Given the description of an element on the screen output the (x, y) to click on. 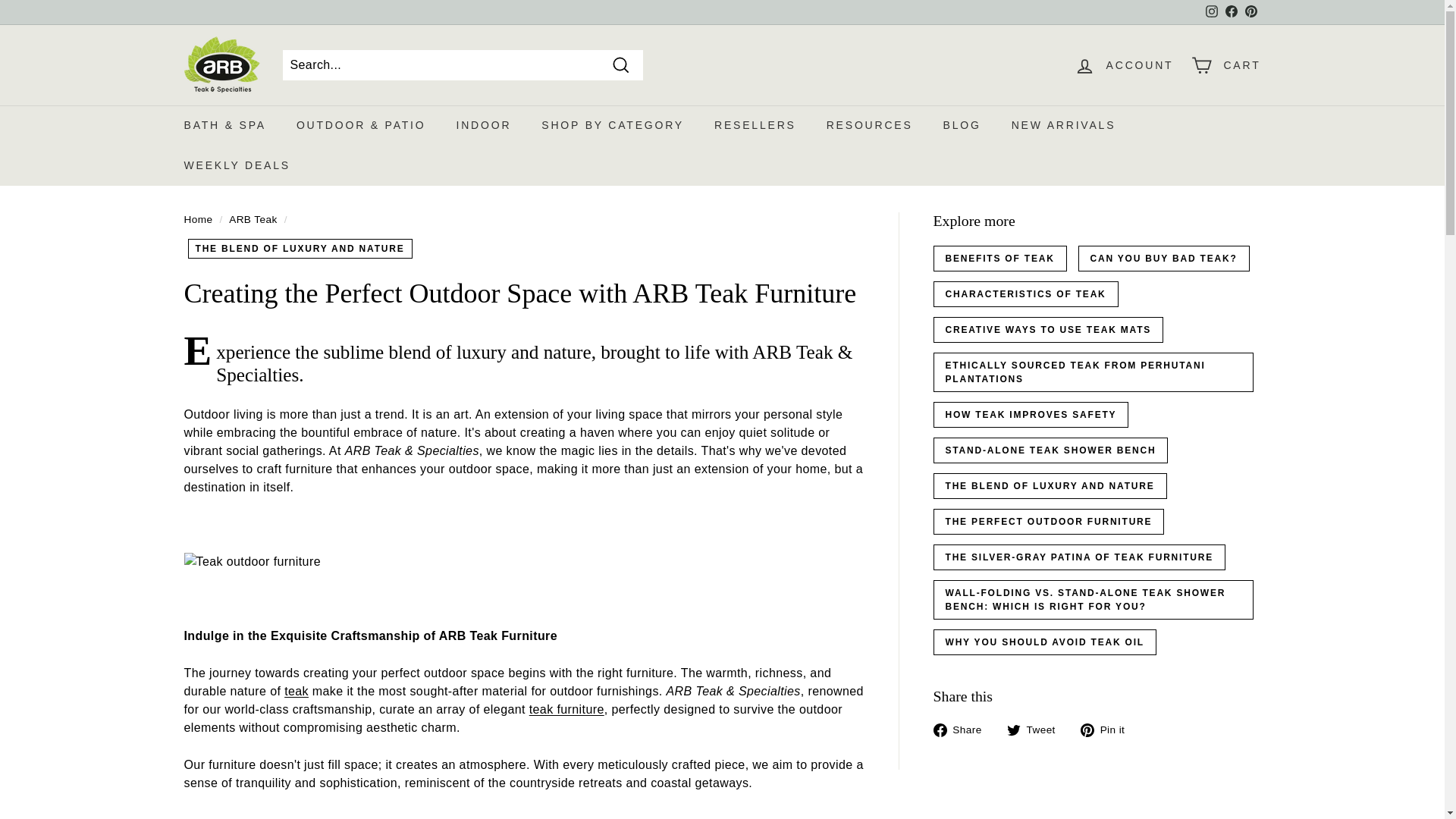
Teak furniture (566, 708)
Share on Facebook (962, 729)
Teak wood (295, 690)
Back to the frontpage (197, 219)
ACCOUNT (1123, 64)
